Given the description of an element on the screen output the (x, y) to click on. 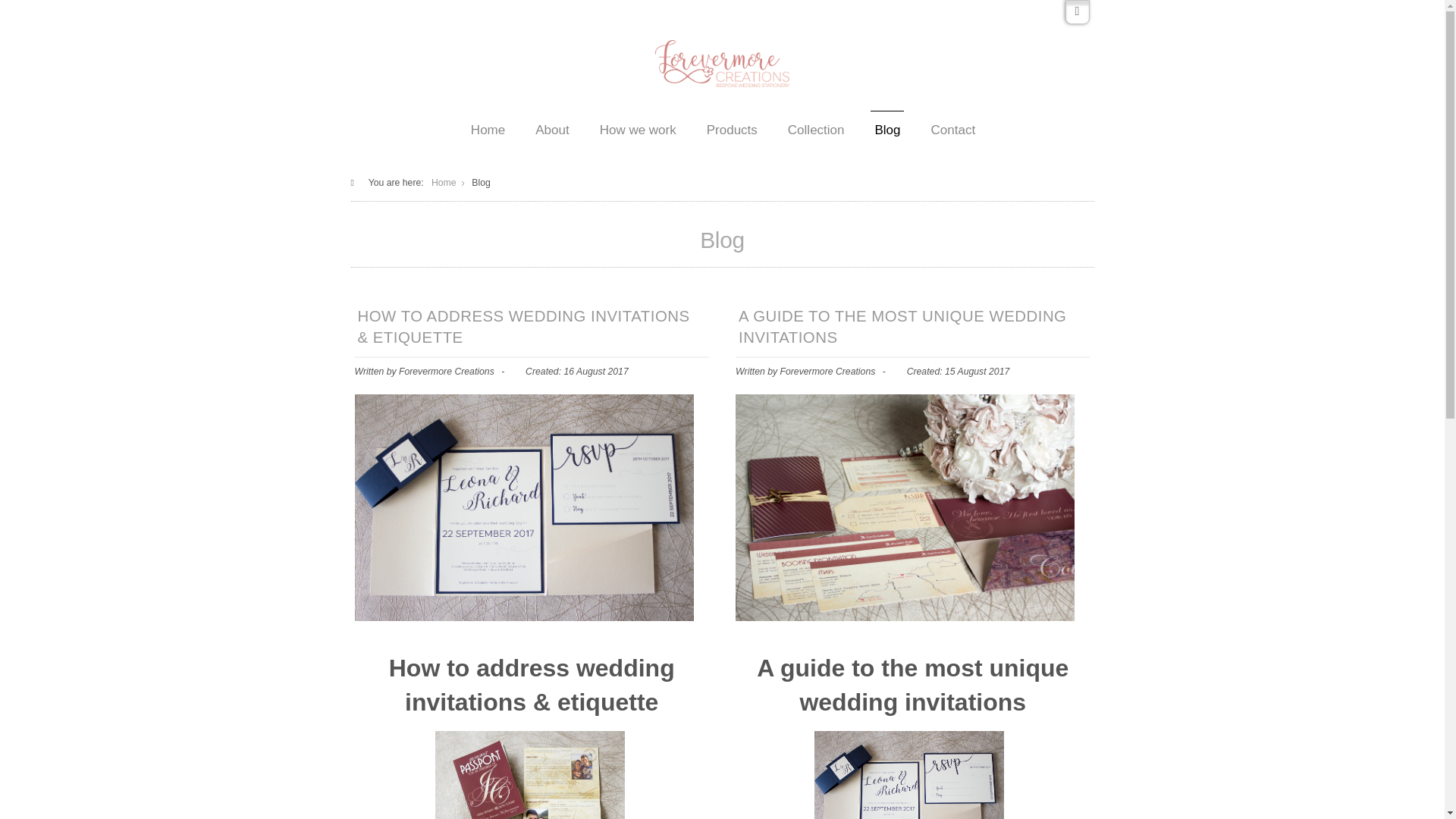
A GUIDE TO THE MOST UNIQUE WEDDING INVITATIONS (912, 328)
How we work (637, 129)
Collection (815, 129)
About (551, 129)
Home (486, 129)
Contact (952, 129)
Facebook (1076, 12)
Products (730, 129)
Home (443, 182)
